Given the description of an element on the screen output the (x, y) to click on. 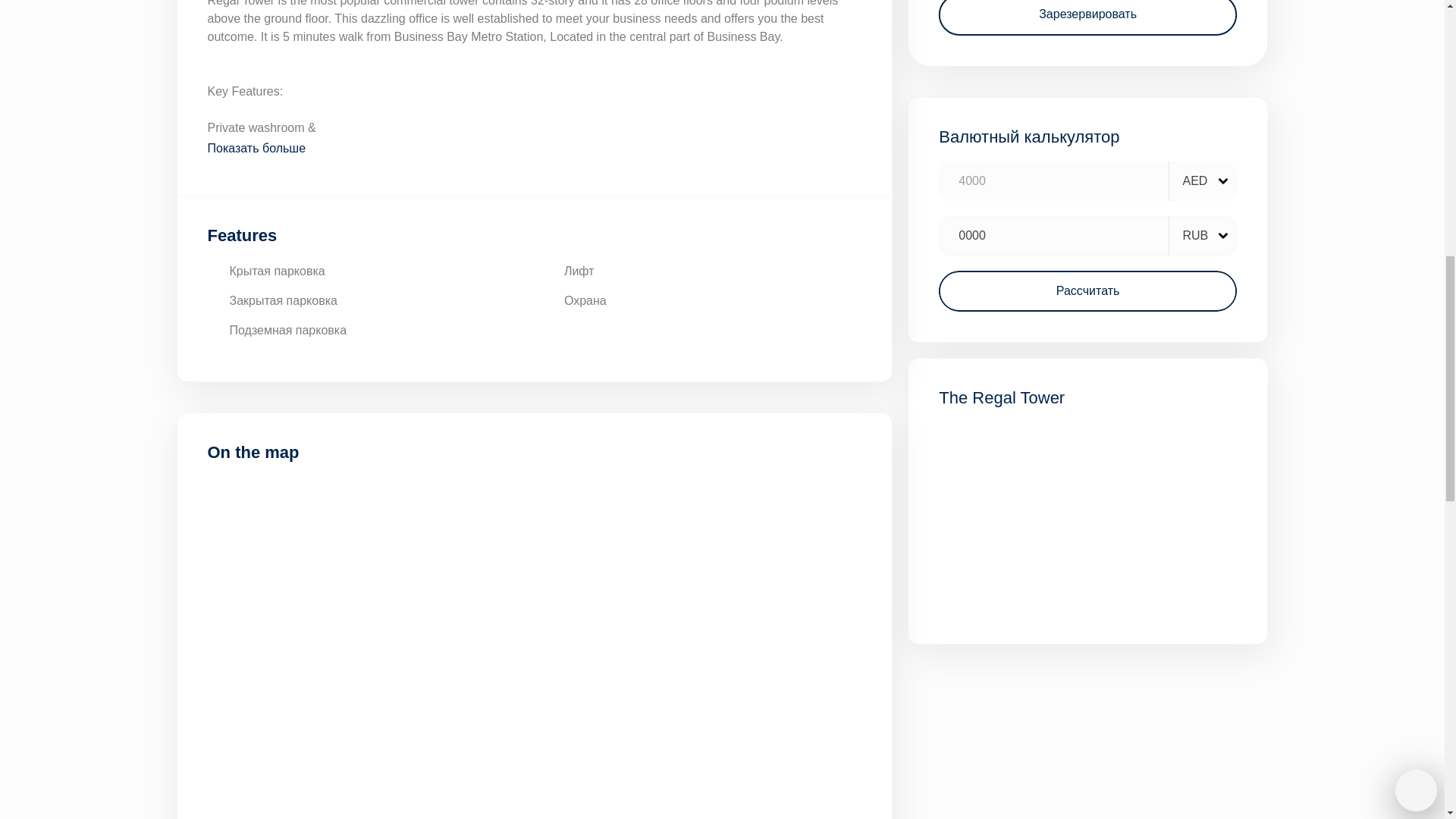
RUB (1204, 235)
AED (1204, 180)
